Given the description of an element on the screen output the (x, y) to click on. 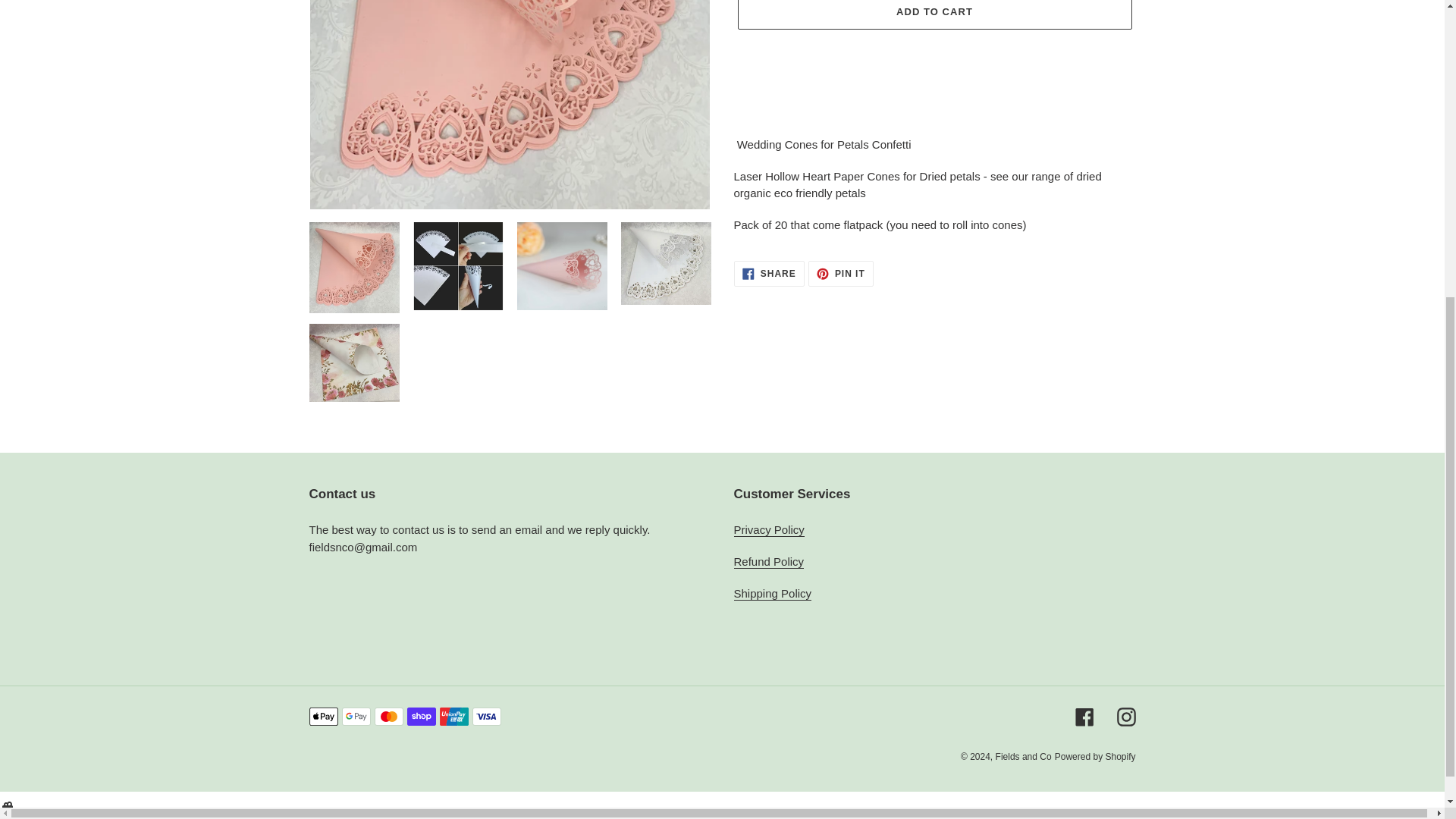
Refund Policy (769, 561)
Shipping Policy (772, 593)
Privacy Policy (769, 530)
Refund Policy (769, 273)
ADD TO CART (840, 273)
Privacy Policy (769, 561)
Shipping Policy (933, 14)
